Given the description of an element on the screen output the (x, y) to click on. 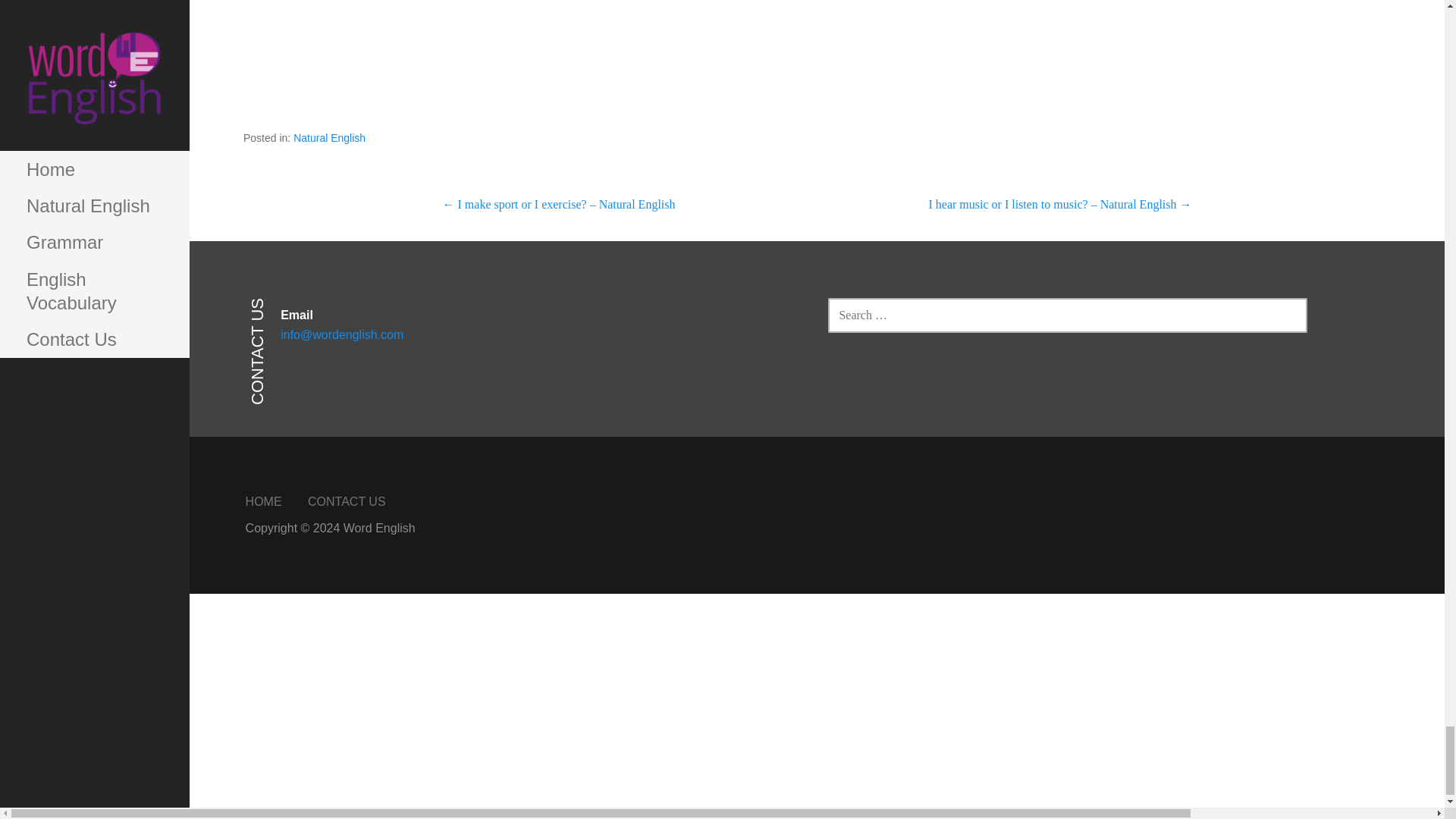
CONTACT US (346, 501)
Natural English (329, 137)
HOME (264, 501)
